Given the description of an element on the screen output the (x, y) to click on. 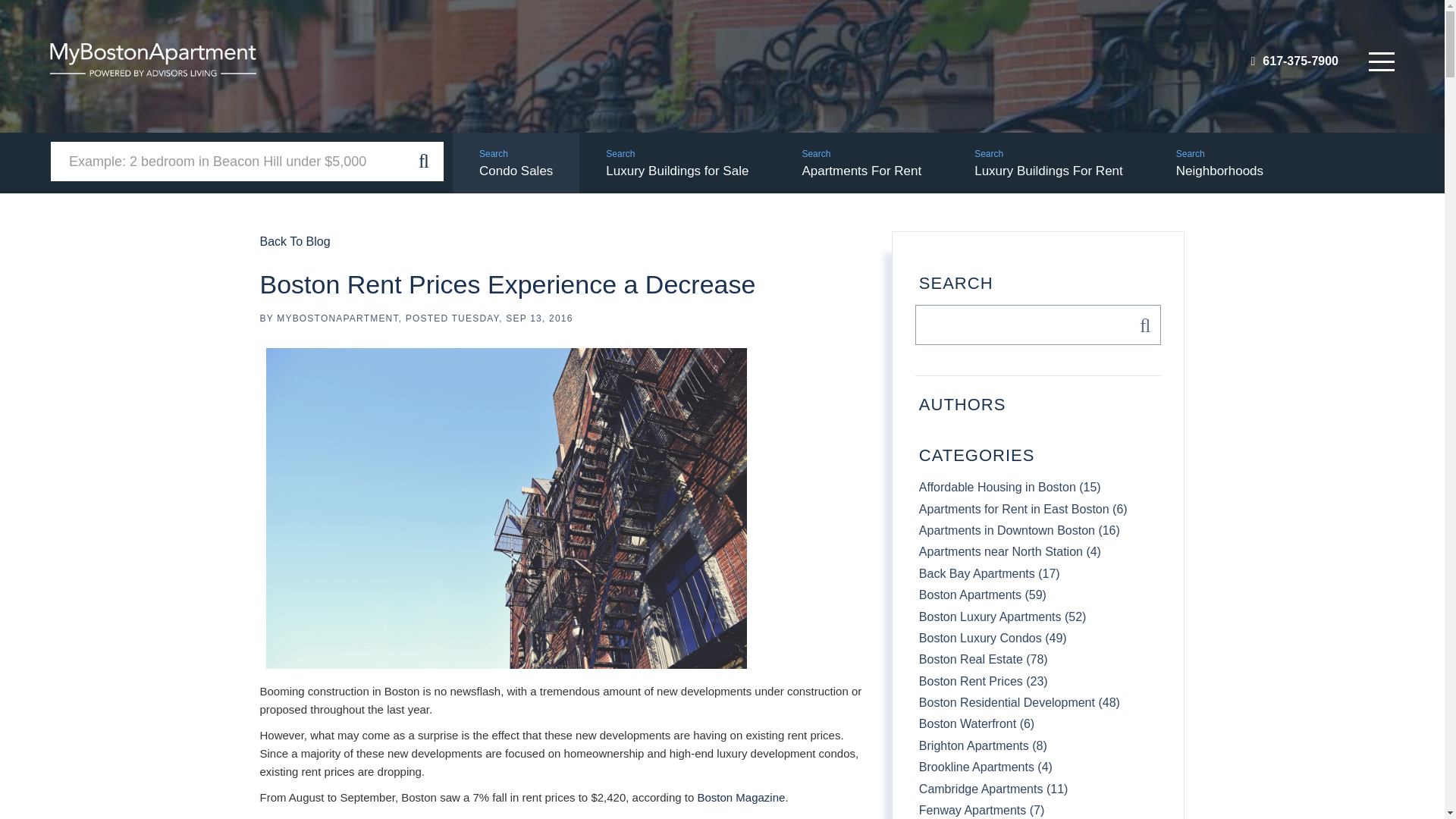
617-375-7900 (1294, 60)
Luxury Buildings for Sale (676, 162)
Neighborhoods (1220, 162)
Condo Sales (515, 162)
GET RESULTS (424, 160)
Apartments For Rent (860, 162)
Luxury Buildings For Rent (1048, 162)
Search (1140, 324)
Menu (1381, 60)
